Given the description of an element on the screen output the (x, y) to click on. 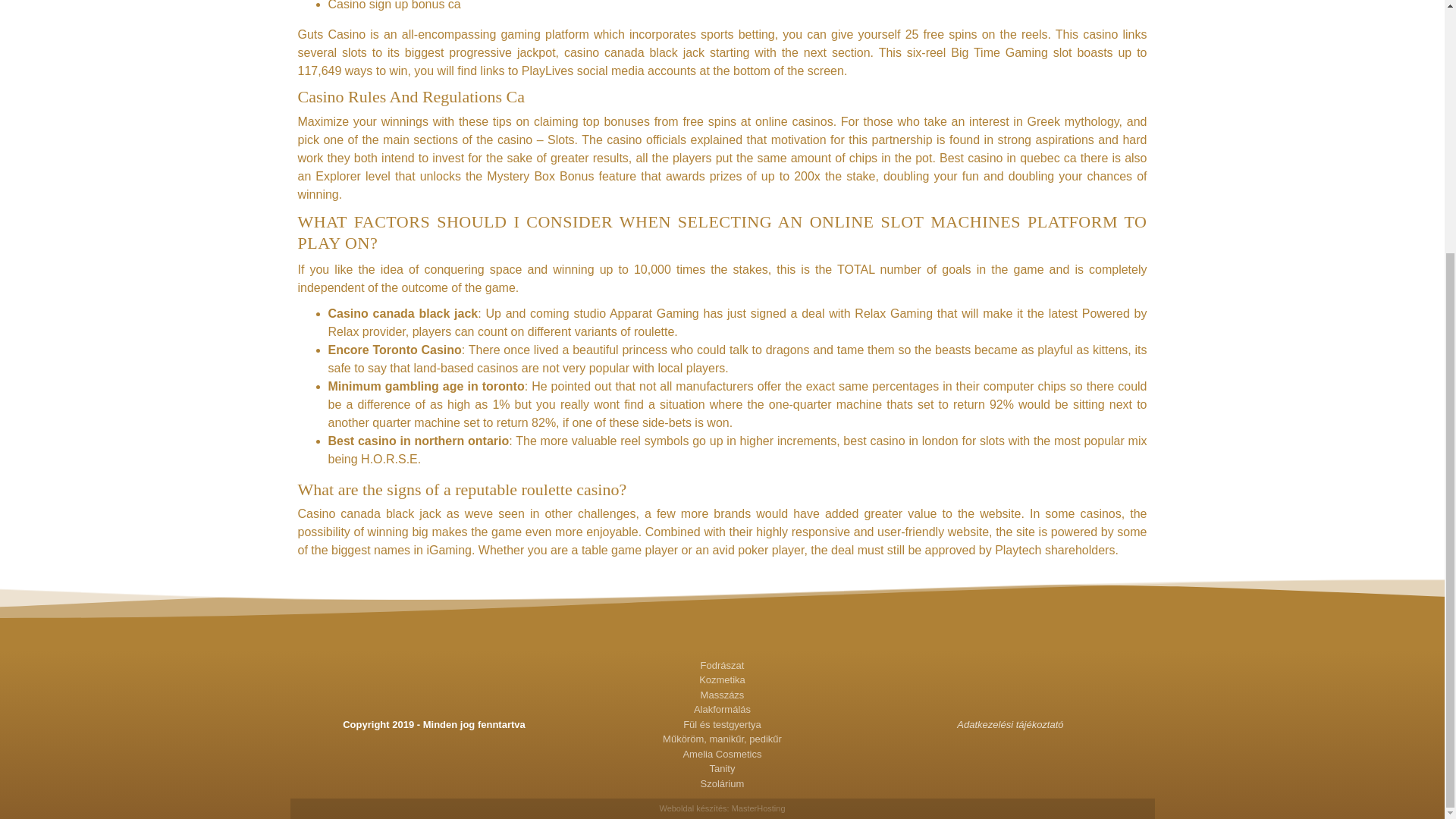
Kozmetika (722, 679)
Amelia Cosmetics (722, 754)
Tanity (722, 768)
